Given the description of an element on the screen output the (x, y) to click on. 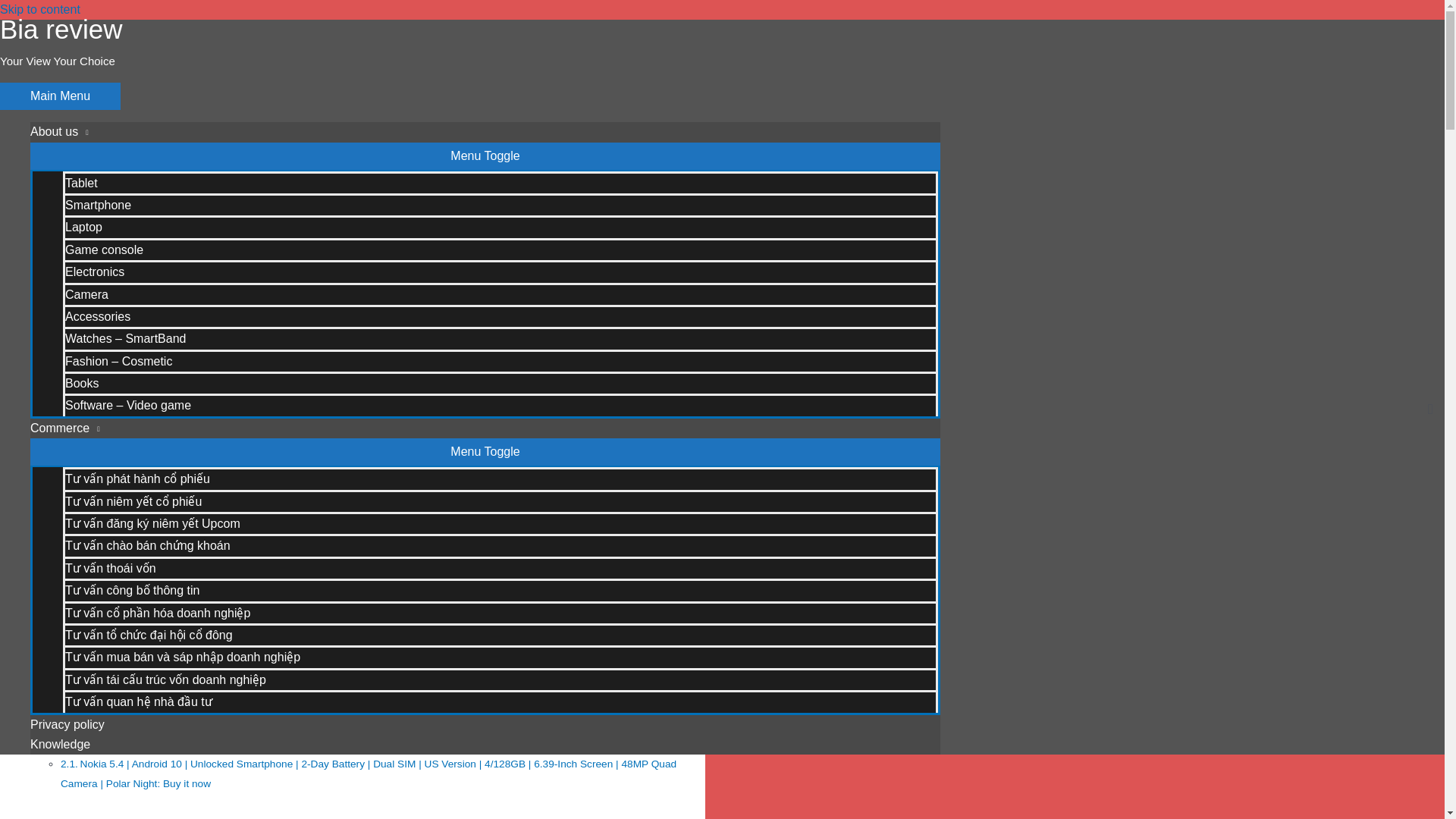
Electronics (499, 270)
Camera (499, 293)
Menu Toggle (485, 155)
About us (485, 131)
Smartphone (141, 420)
on (30, 690)
Skip to content (40, 9)
admin (219, 420)
Privacy policy (485, 724)
where can you get a Nokia 5.4 online (136, 743)
Bia review (61, 29)
Accessories (499, 315)
Knowledge (485, 744)
Books (499, 382)
Main Menu (60, 95)
